Given the description of an element on the screen output the (x, y) to click on. 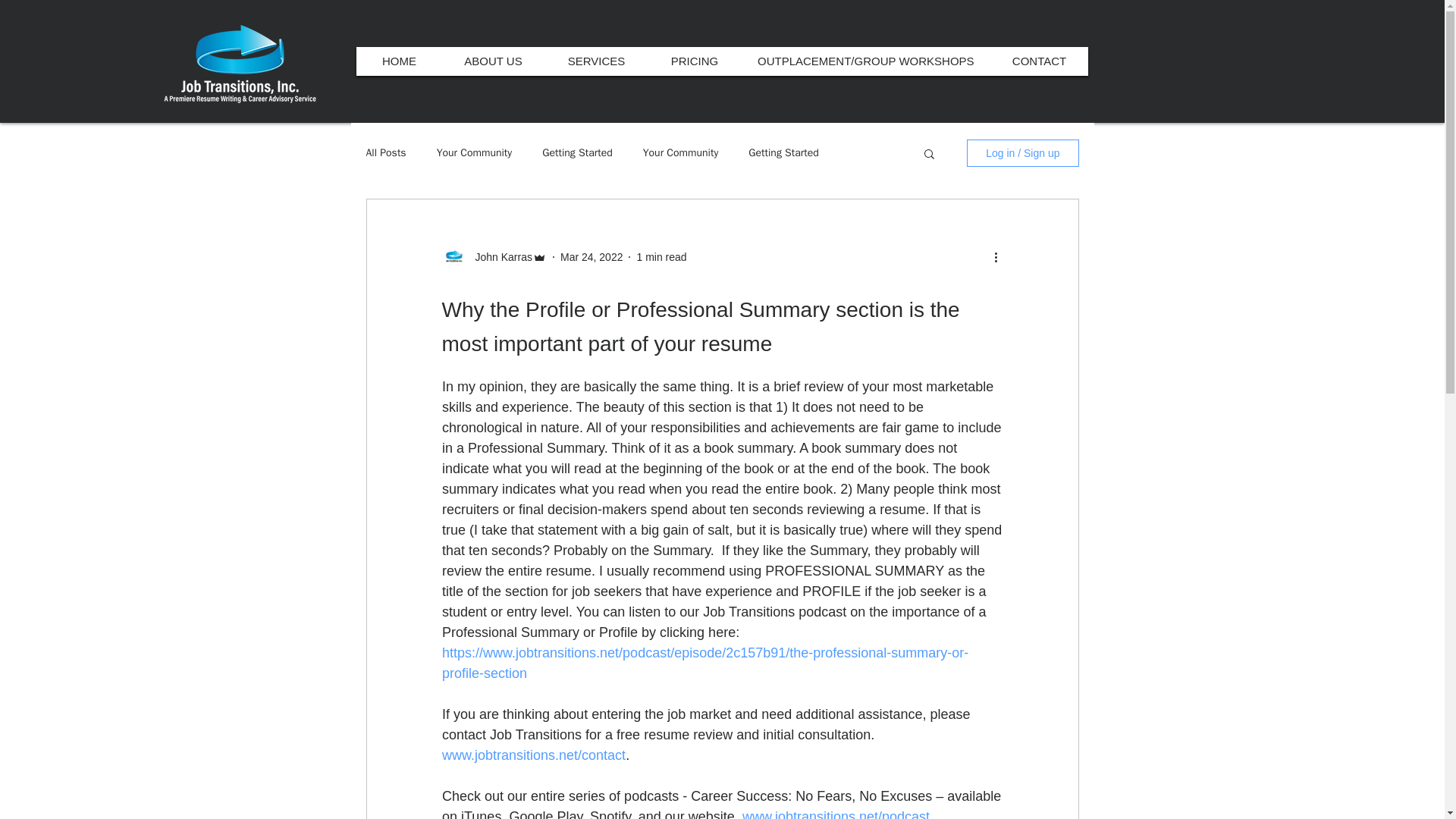
Getting Started (576, 152)
Mar 24, 2022 (591, 256)
1 min read (660, 256)
CONTACT (1038, 61)
Your Community (681, 152)
All Posts (385, 152)
Getting Started (783, 152)
Your Community (474, 152)
PRICING (695, 61)
ABOUT US (493, 61)
HOME (398, 61)
John Karras (498, 256)
SERVICES (596, 61)
